Given the description of an element on the screen output the (x, y) to click on. 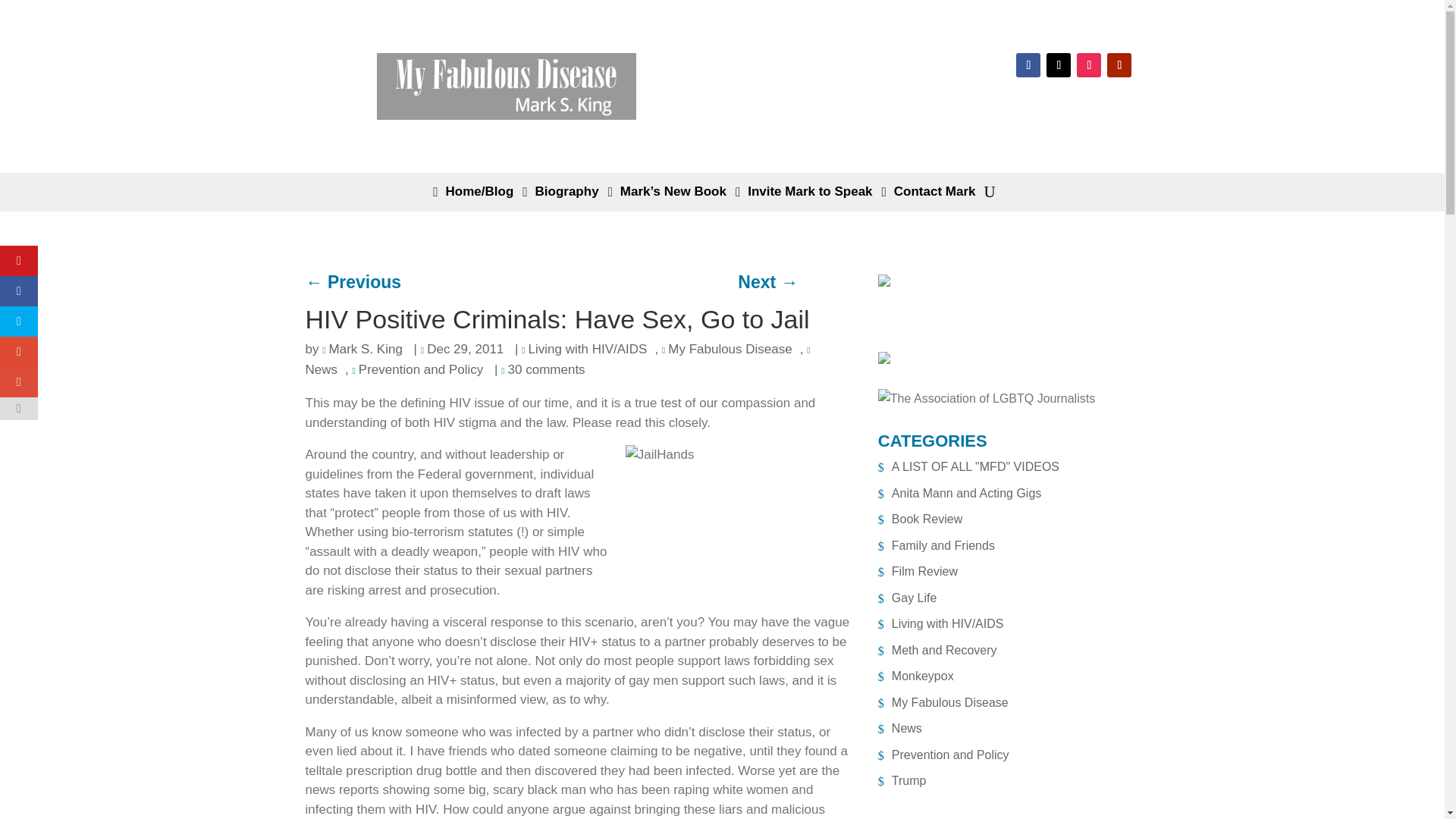
News (558, 359)
Contact Mark (932, 194)
Follow on Youtube (1118, 64)
Film Review (917, 571)
Anita Mann and Acting Gigs (959, 492)
News (899, 727)
My Fabulous Disease (727, 349)
Follow on Instagram (1088, 64)
Invite Mark to Speak (807, 194)
30 comments (542, 369)
